Given the description of an element on the screen output the (x, y) to click on. 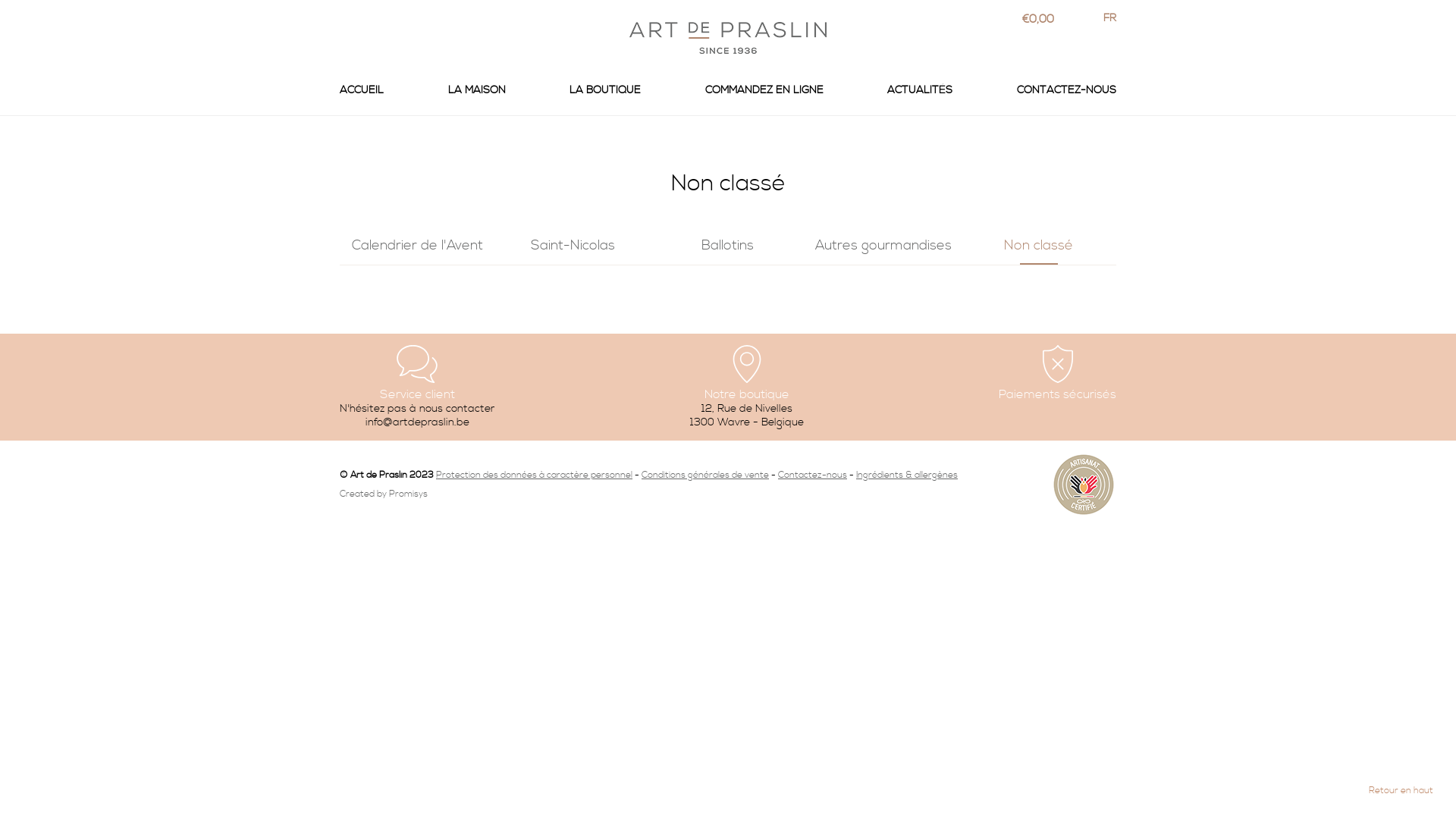
LA MAISON Element type: text (476, 94)
Autres gourmandises Element type: text (882, 245)
FR Element type: text (1109, 17)
Contactez-nous Element type: text (812, 474)
LA BOUTIQUE Element type: text (604, 94)
CONTACTEZ-NOUS Element type: text (1066, 94)
Saint-Nicolas Element type: text (572, 245)
ACCUEIL Element type: text (361, 94)
Calendrier de l'Avent Element type: text (417, 245)
COMMANDEZ EN LIGNE Element type: text (764, 94)
Created by Promisys Element type: text (383, 493)
Ballotins Element type: text (728, 245)
